Given the description of an element on the screen output the (x, y) to click on. 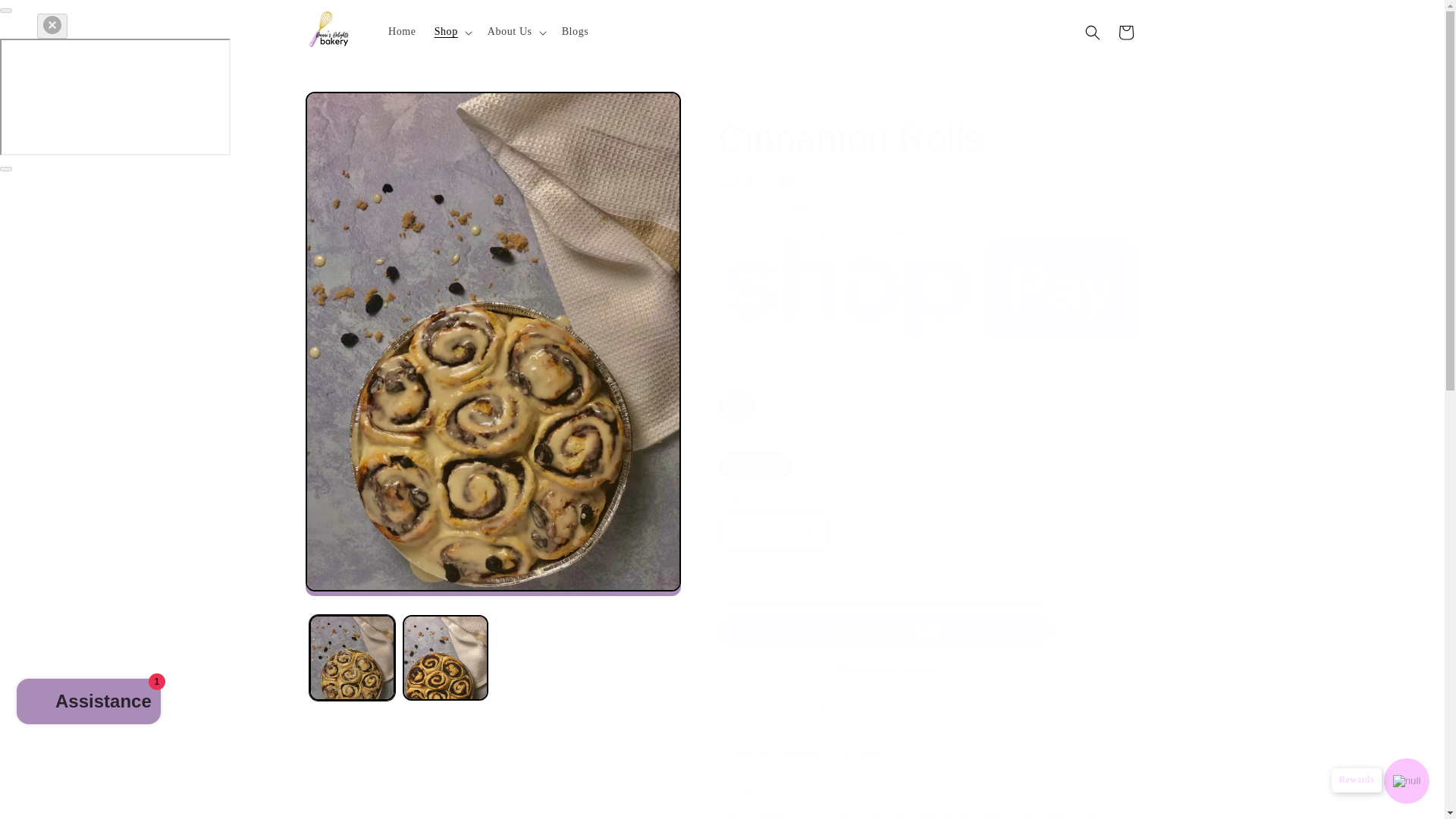
Cart (1124, 31)
Shopify online store chat (88, 703)
Skip to content (46, 18)
Home (401, 31)
Blogs (575, 31)
Skip to product information (351, 108)
Shipping (795, 204)
1 (773, 529)
Decrease quantity for Cinnamon Rolls (737, 529)
